Given the description of an element on the screen output the (x, y) to click on. 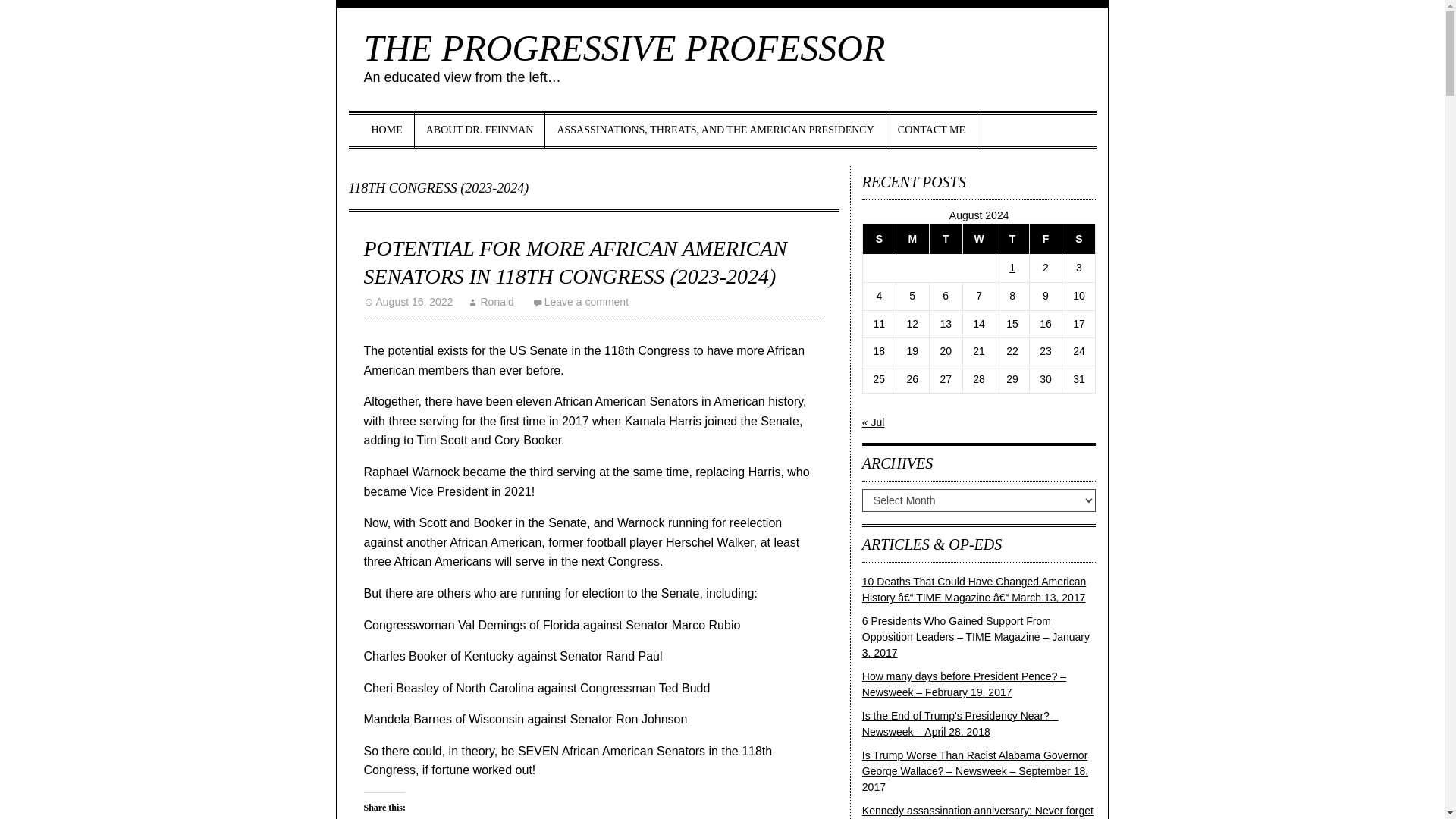
About Dr. Feinman (480, 130)
Contact Me (931, 130)
12:16 pm (408, 301)
Assassinations, Threats, and the American Presidency (714, 130)
Leave a comment (580, 301)
ABOUT DR. FEINMAN (480, 130)
Home (386, 130)
CONTACT ME (931, 130)
THE PROGRESSIVE PROFESSOR (624, 47)
August 16, 2022 (408, 301)
Ronald (490, 301)
ASSASSINATIONS, THREATS, AND THE AMERICAN PRESIDENCY (714, 130)
HOME (386, 130)
The Progressive Professor (624, 47)
View all posts by Ronald (490, 301)
